Given the description of an element on the screen output the (x, y) to click on. 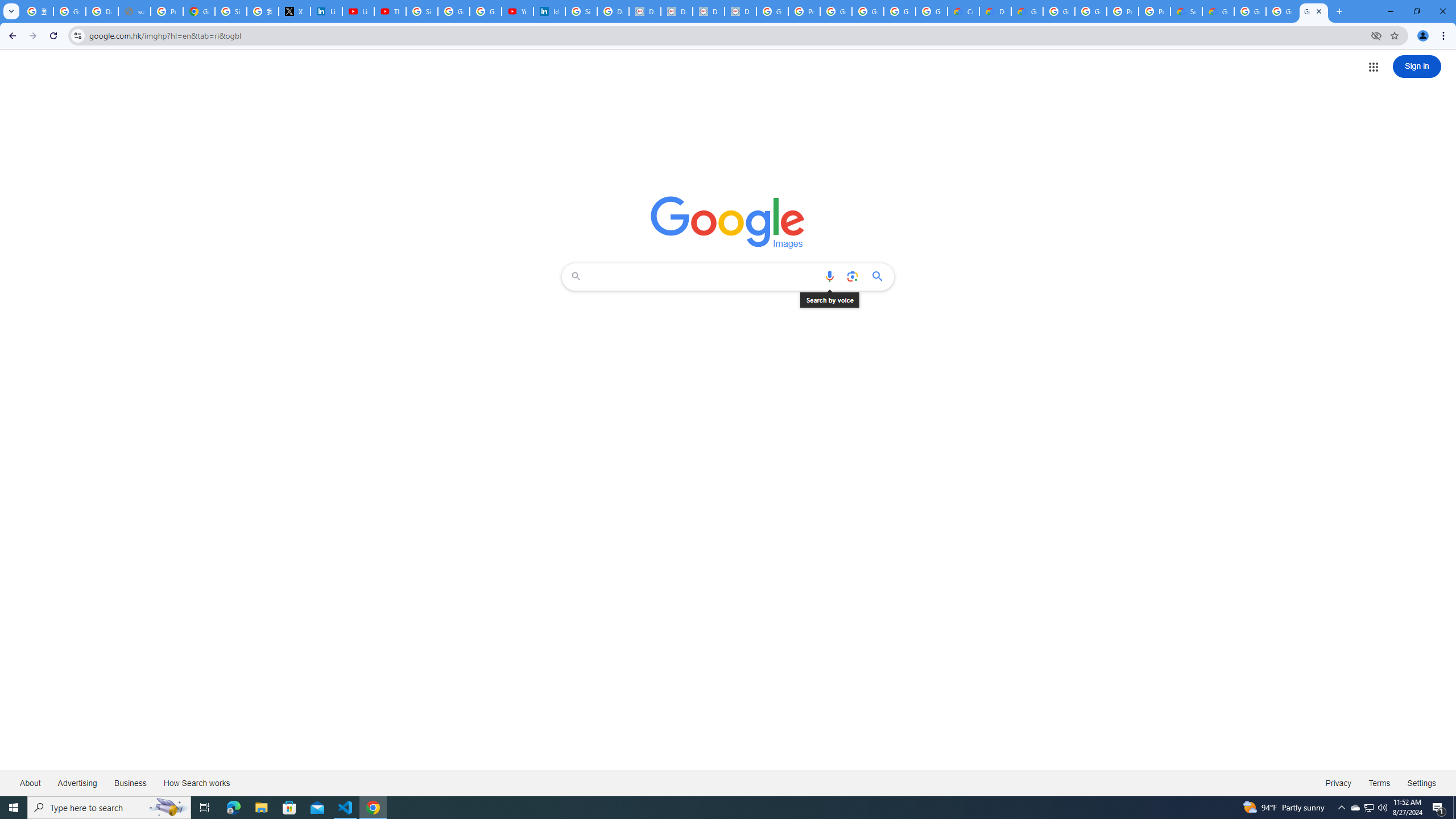
Support Hub | Google Cloud (1185, 11)
Google Cloud Platform (1059, 11)
Search by image (852, 276)
Sign in - Google Accounts (581, 11)
Privacy Help Center - Policies Help (166, 11)
